Given the description of an element on the screen output the (x, y) to click on. 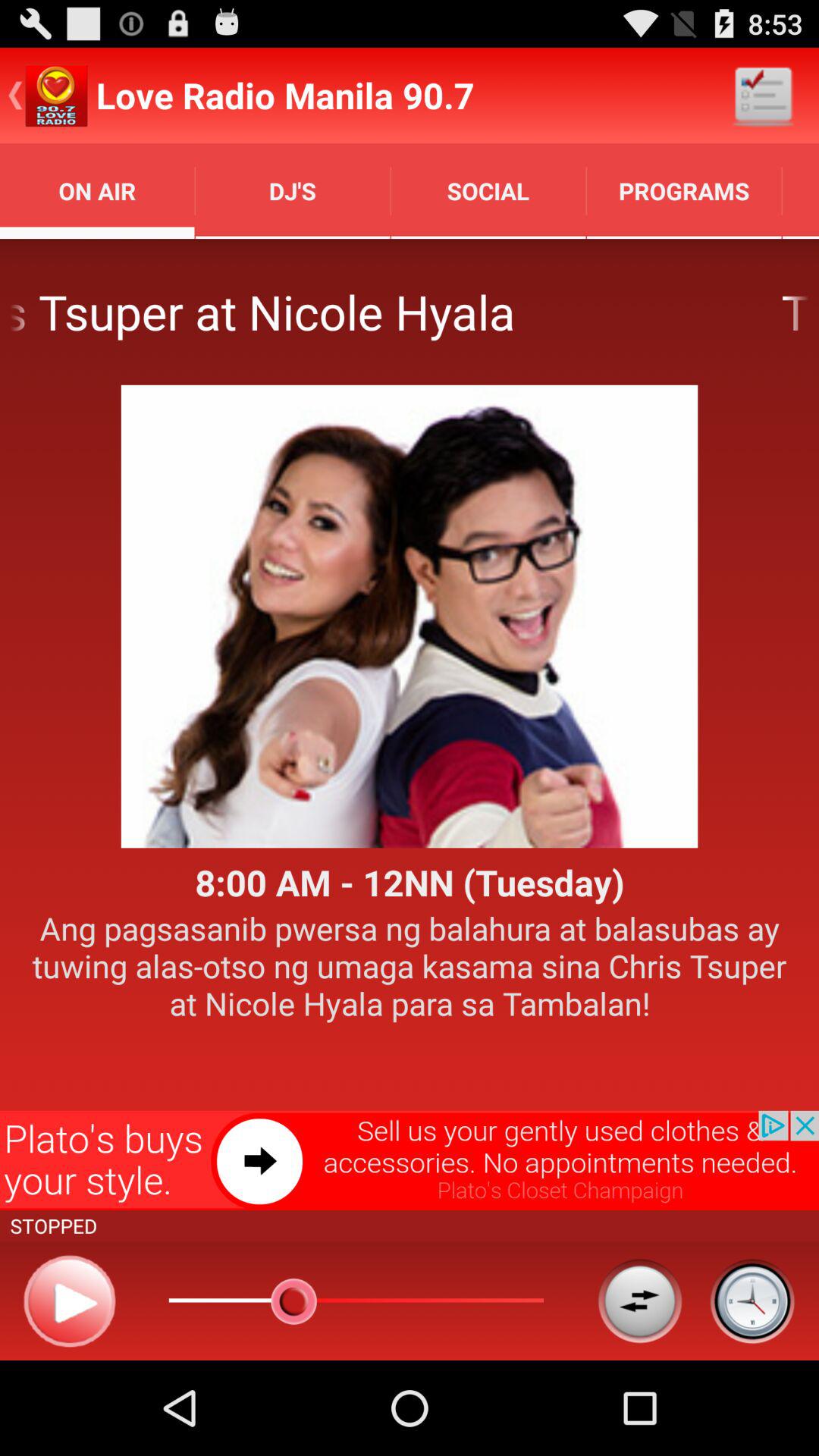
show the hourly schedule (751, 1300)
